Given the description of an element on the screen output the (x, y) to click on. 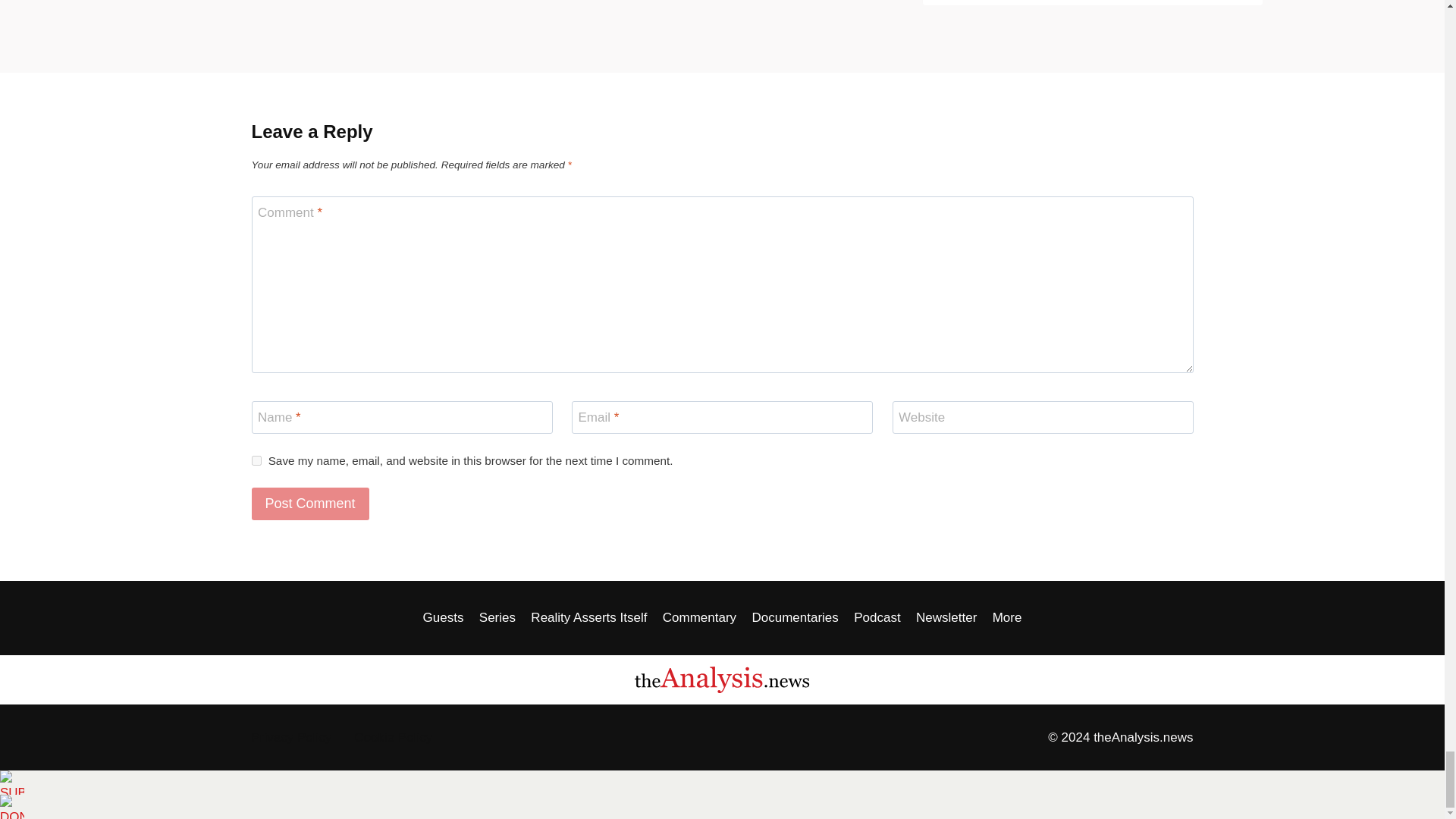
Privacy Policy  (291, 737)
Cookie Policy  (392, 737)
Post Comment (310, 503)
yes (256, 460)
